Given the description of an element on the screen output the (x, y) to click on. 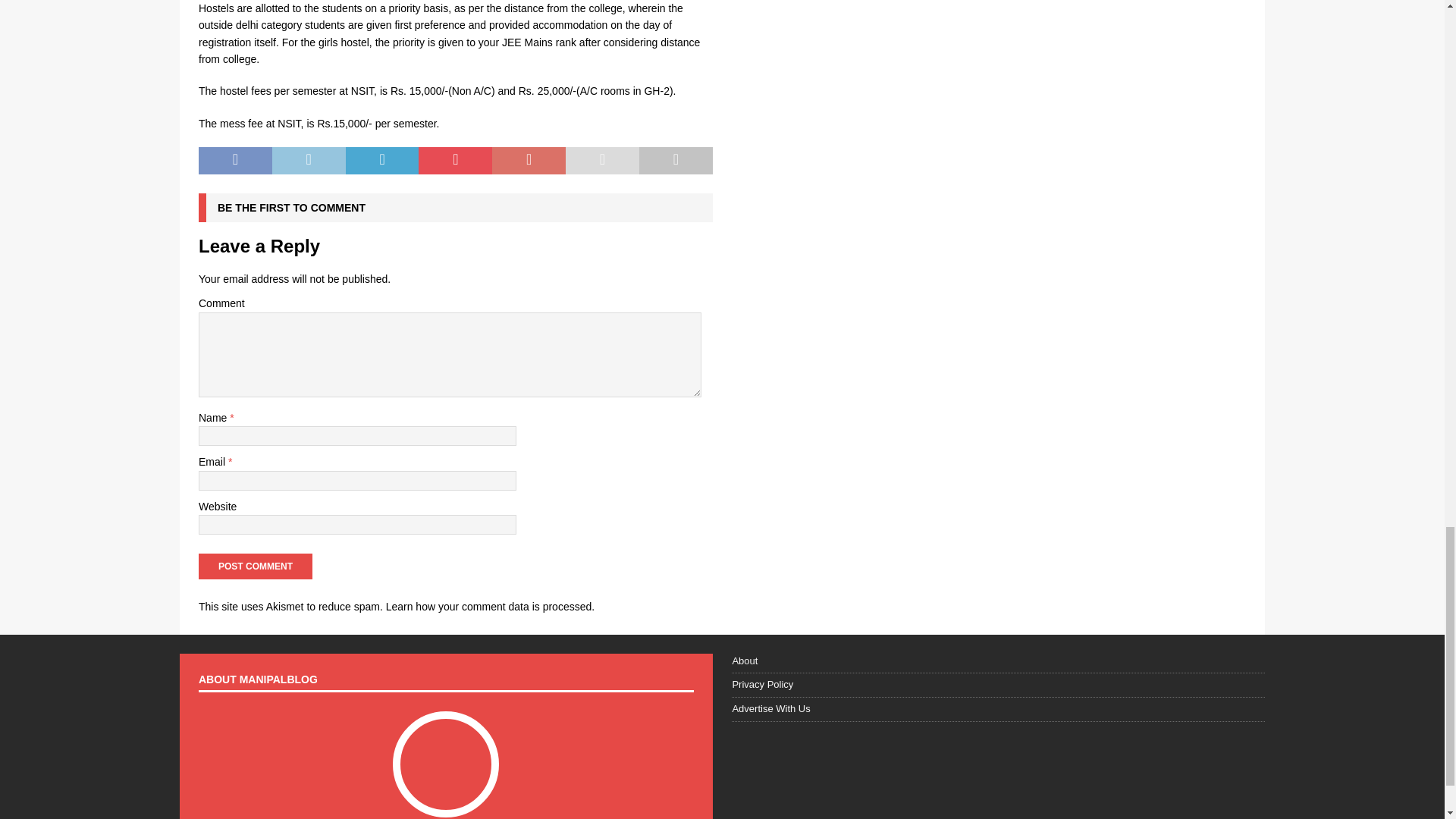
Post Comment (255, 566)
Post Comment (255, 566)
Learn how your comment data is processed (488, 606)
